Given the description of an element on the screen output the (x, y) to click on. 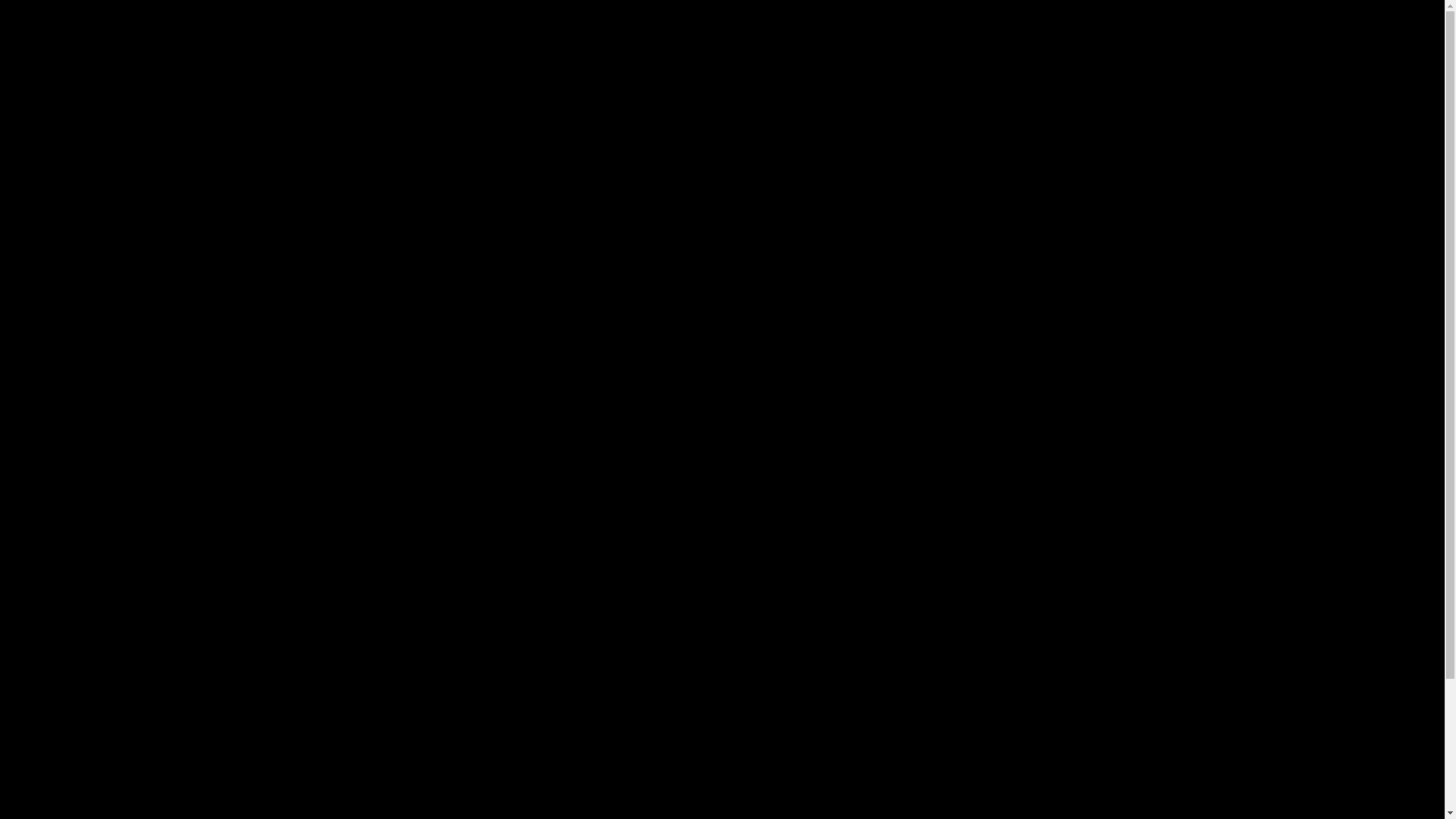
Post Comment Element type: text (721, 778)
